Given the description of an element on the screen output the (x, y) to click on. 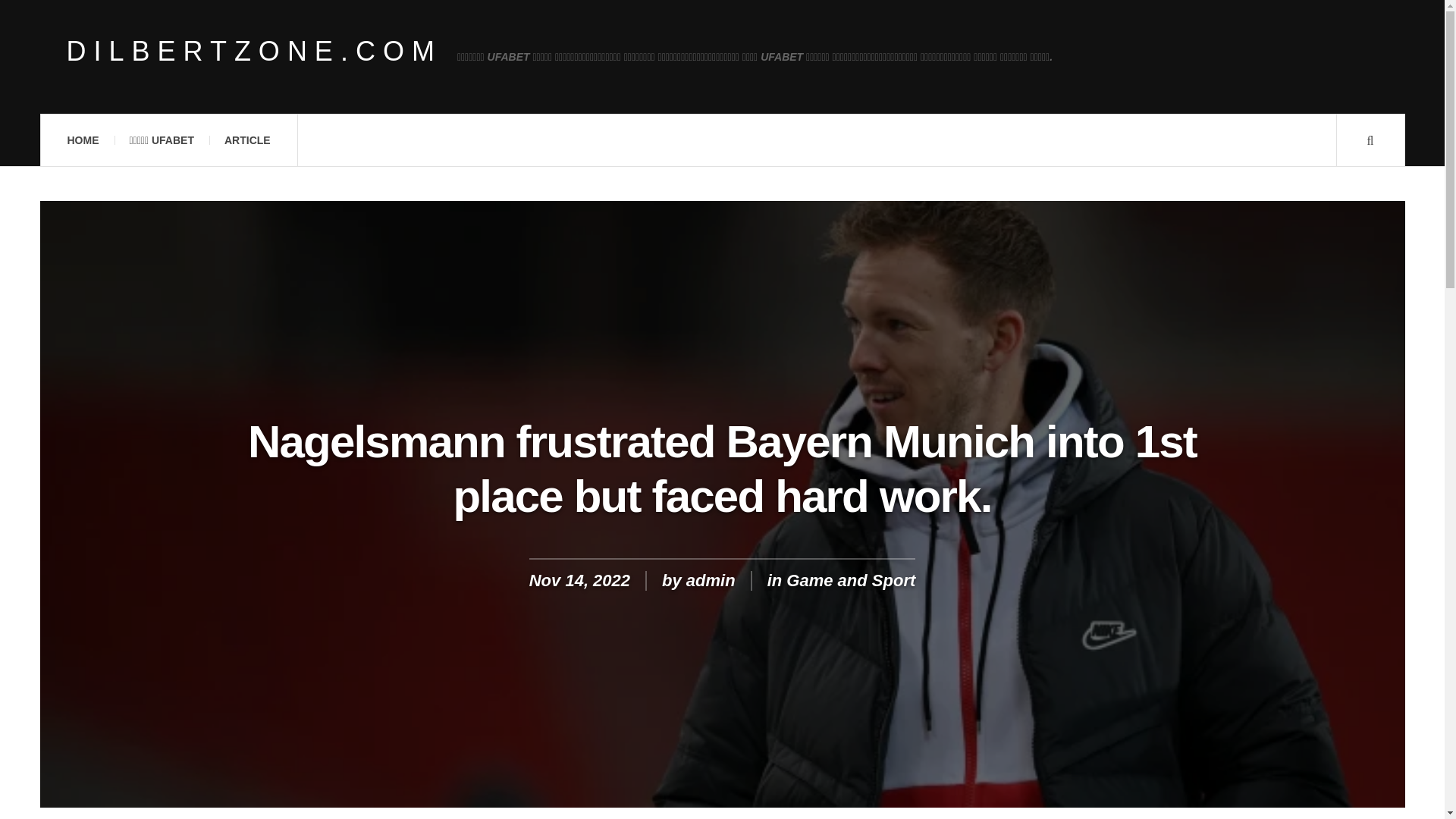
dilbertzone.com (254, 51)
admin (710, 579)
Game and Sport (850, 579)
ARTICLE (247, 140)
View all posts in Game and Sport (850, 579)
HOME (81, 140)
DILBERTZONE.COM (254, 51)
